Given the description of an element on the screen output the (x, y) to click on. 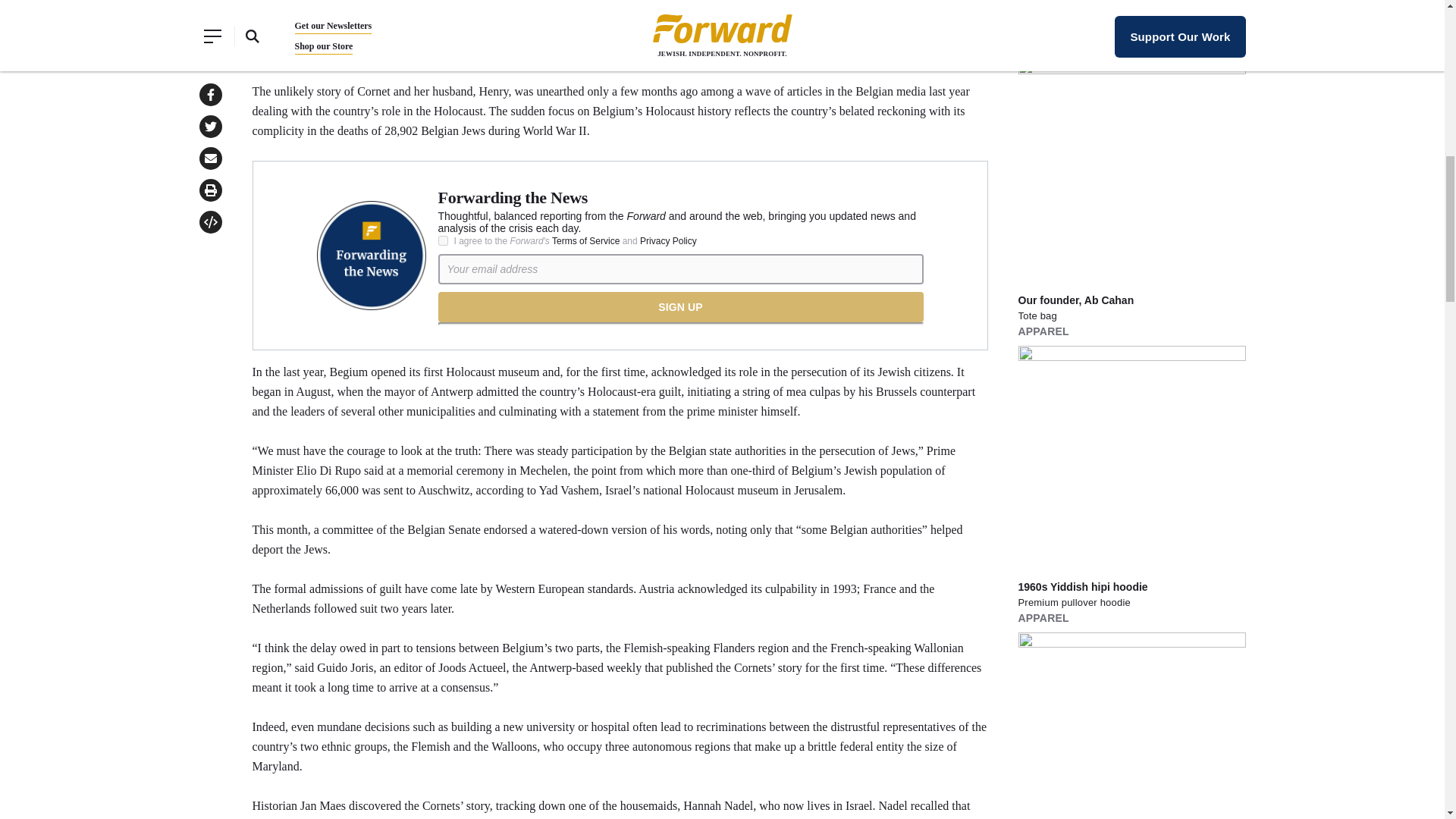
Yes (443, 240)
Sign Up (680, 306)
